Given the description of an element on the screen output the (x, y) to click on. 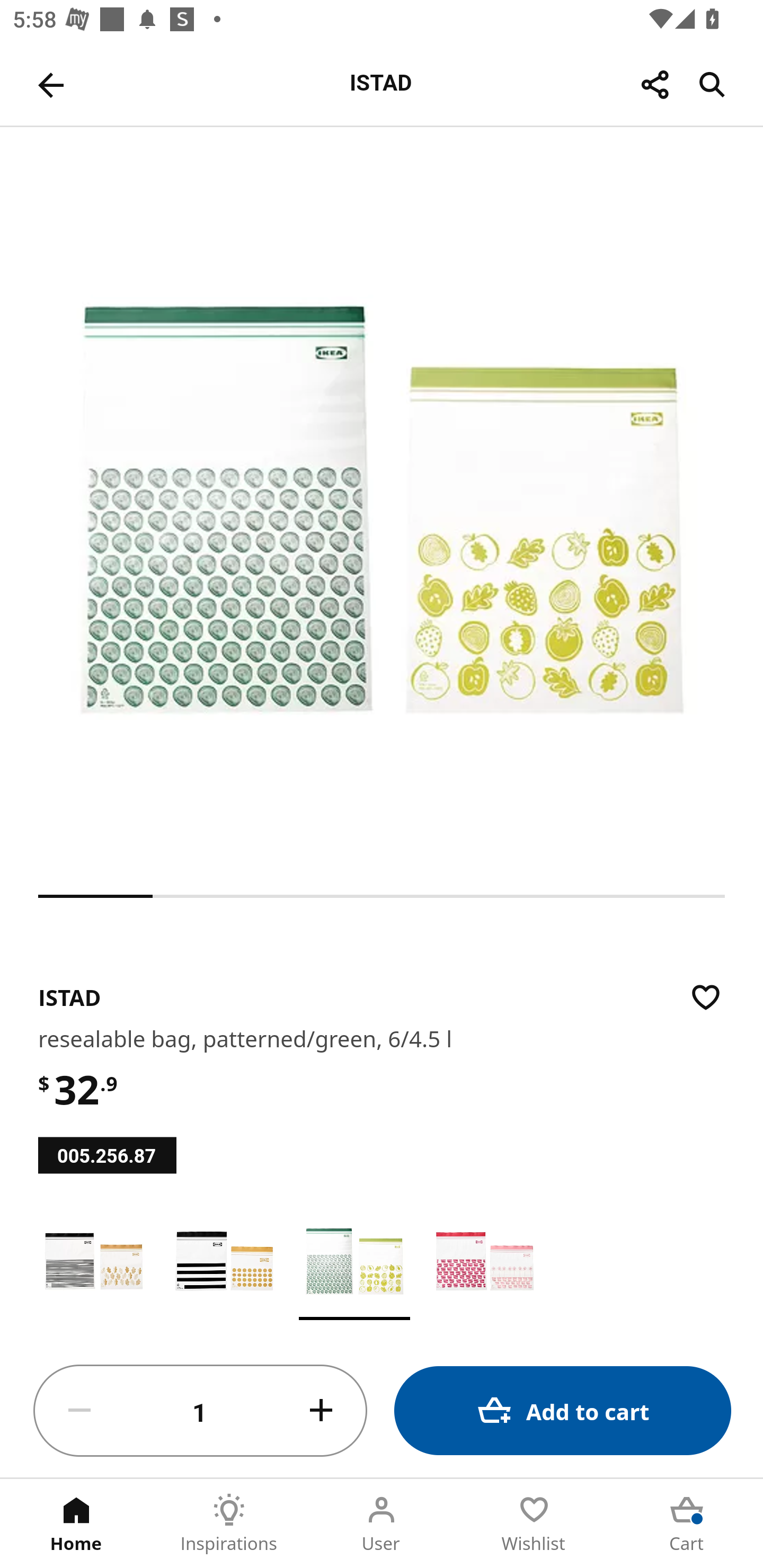
Add to cart (562, 1410)
1 (200, 1411)
Home
Tab 1 of 5 (76, 1522)
Inspirations
Tab 2 of 5 (228, 1522)
User
Tab 3 of 5 (381, 1522)
Wishlist
Tab 4 of 5 (533, 1522)
Cart
Tab 5 of 5 (686, 1522)
